Given the description of an element on the screen output the (x, y) to click on. 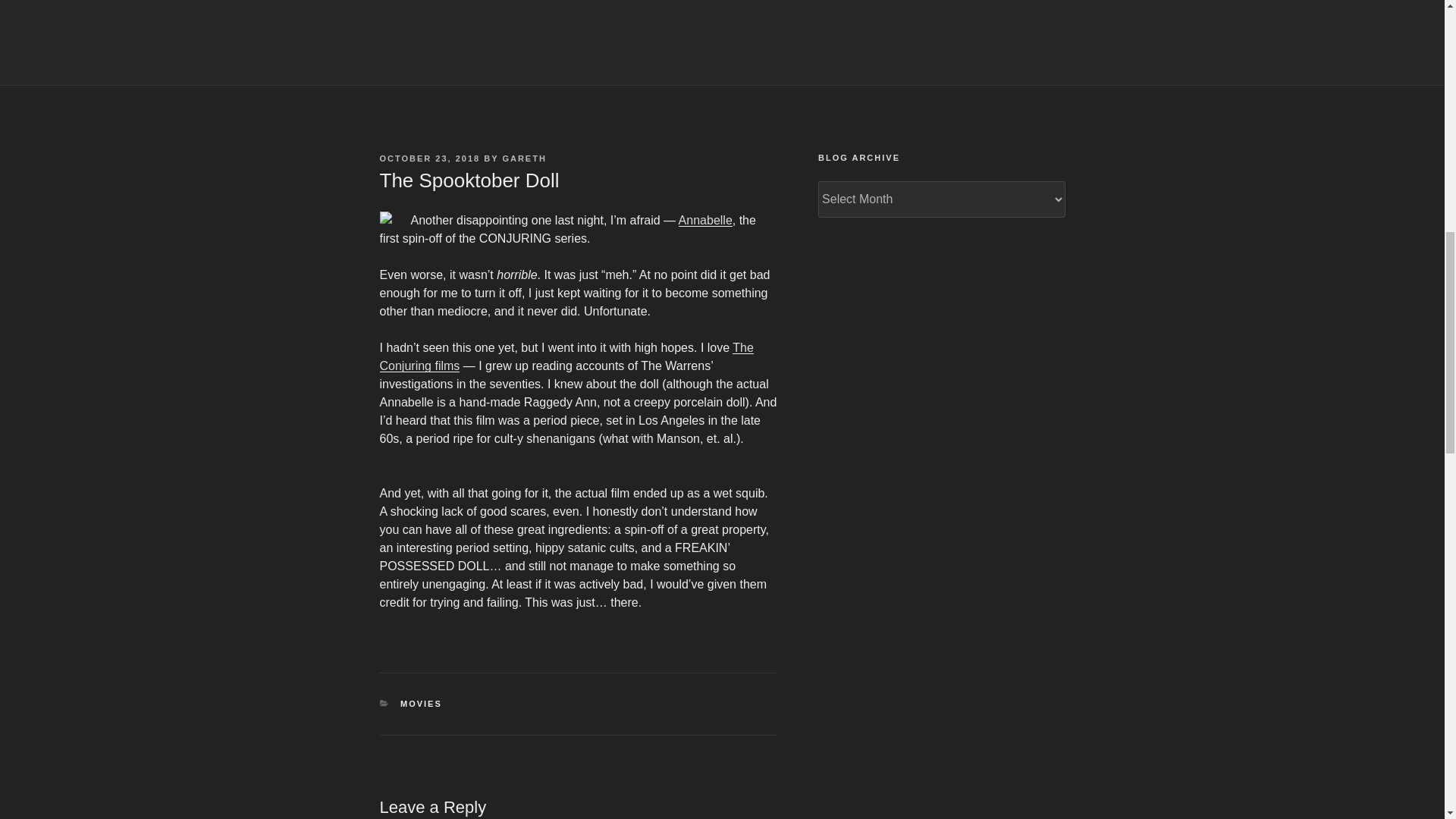
GARETH (524, 157)
MOVIES (421, 703)
Annabelle (705, 219)
The Conjuring films (565, 356)
OCTOBER 23, 2018 (429, 157)
